Given the description of an element on the screen output the (x, y) to click on. 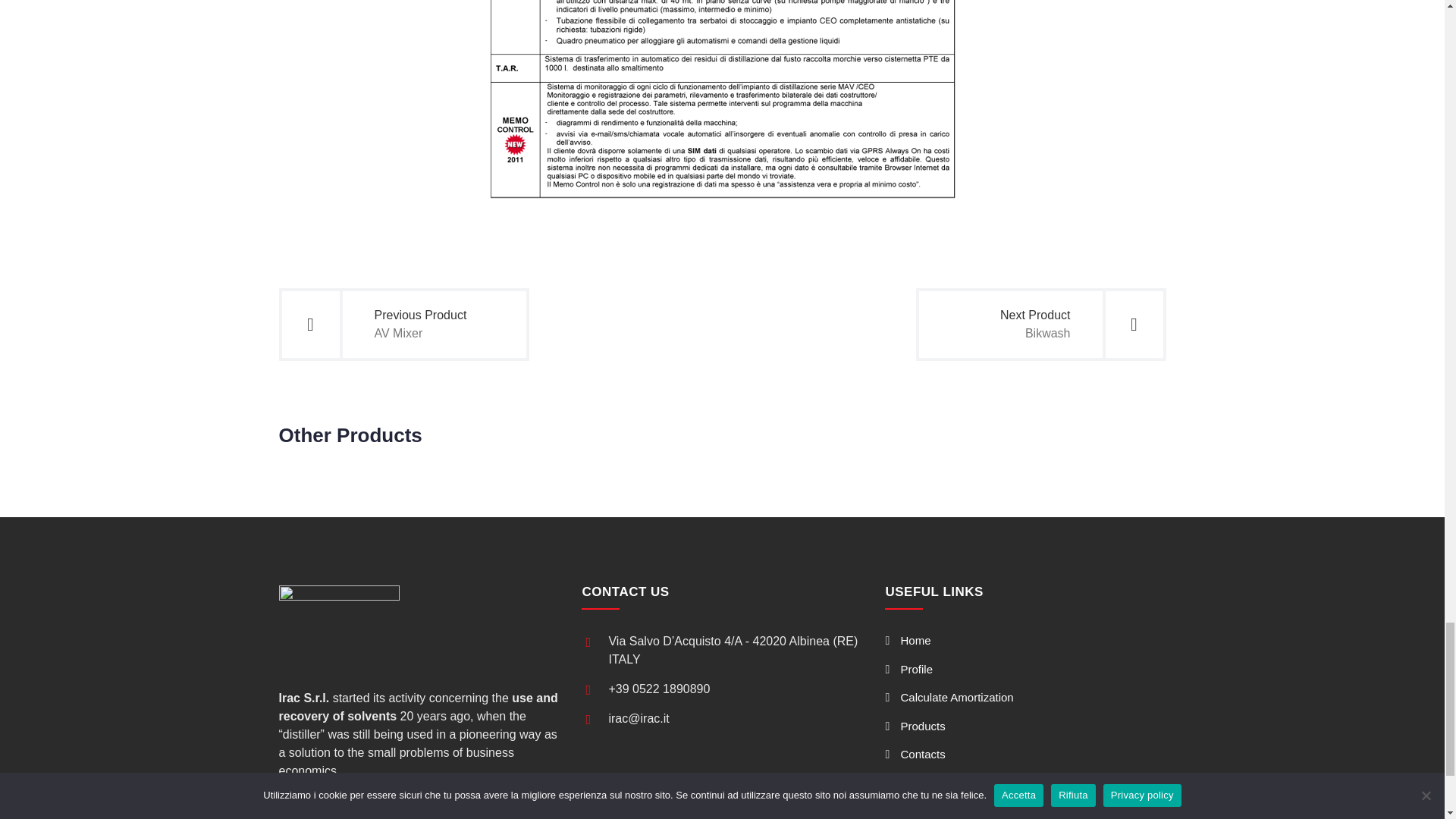
Home (404, 324)
Profile (907, 640)
Contacts (909, 668)
Calculate Amortization (1040, 324)
Products (914, 753)
